Given the description of an element on the screen output the (x, y) to click on. 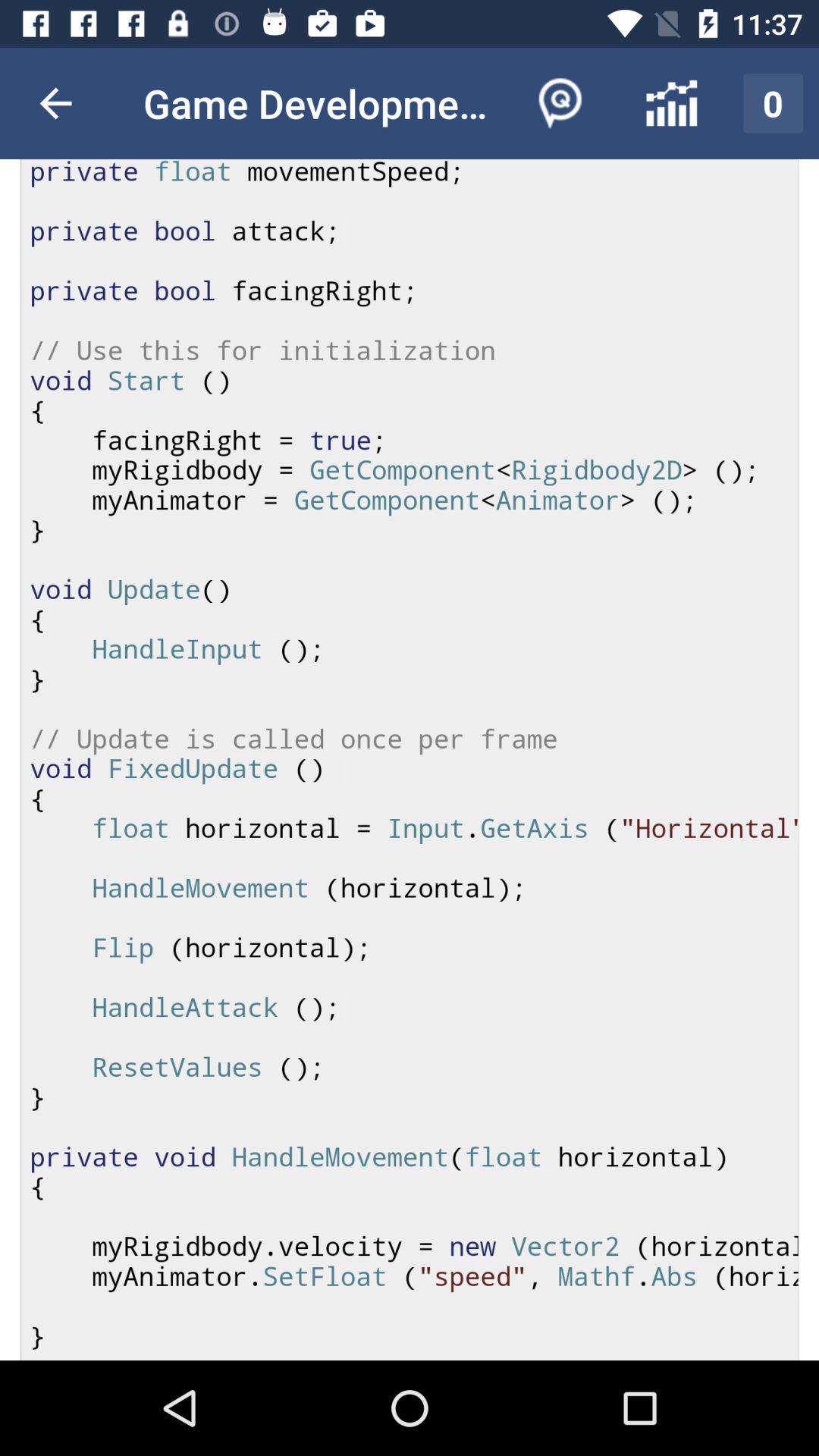
codings page (409, 759)
